Given the description of an element on the screen output the (x, y) to click on. 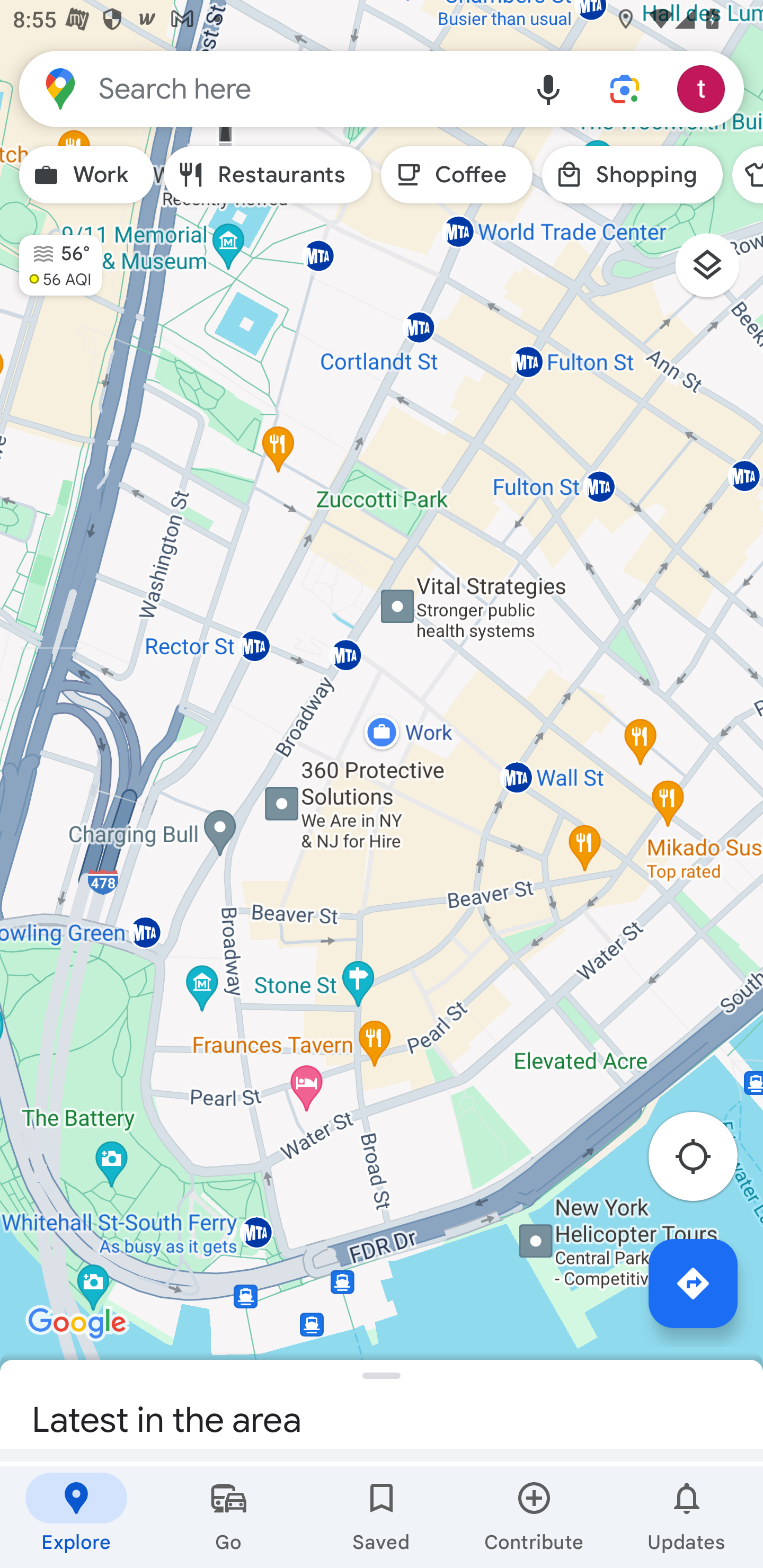
Search here (264, 88)
Voice search (548, 88)
Lens in Maps (624, 88)
Account and settings. (703, 88)
Work (86, 174)
Restaurants Search for Restaurants (267, 174)
Coffee Search for Coffee (456, 174)
Shopping Search for Shopping (631, 174)
Mist, 56°, Moderate, 56 AQI 56° 56 AQI (50, 257)
Layers (716, 271)
Re-center map to your location (702, 1161)
Directions (692, 1283)
Go (228, 1517)
Saved (381, 1517)
Contribute (533, 1517)
Updates (686, 1517)
